Given the description of an element on the screen output the (x, y) to click on. 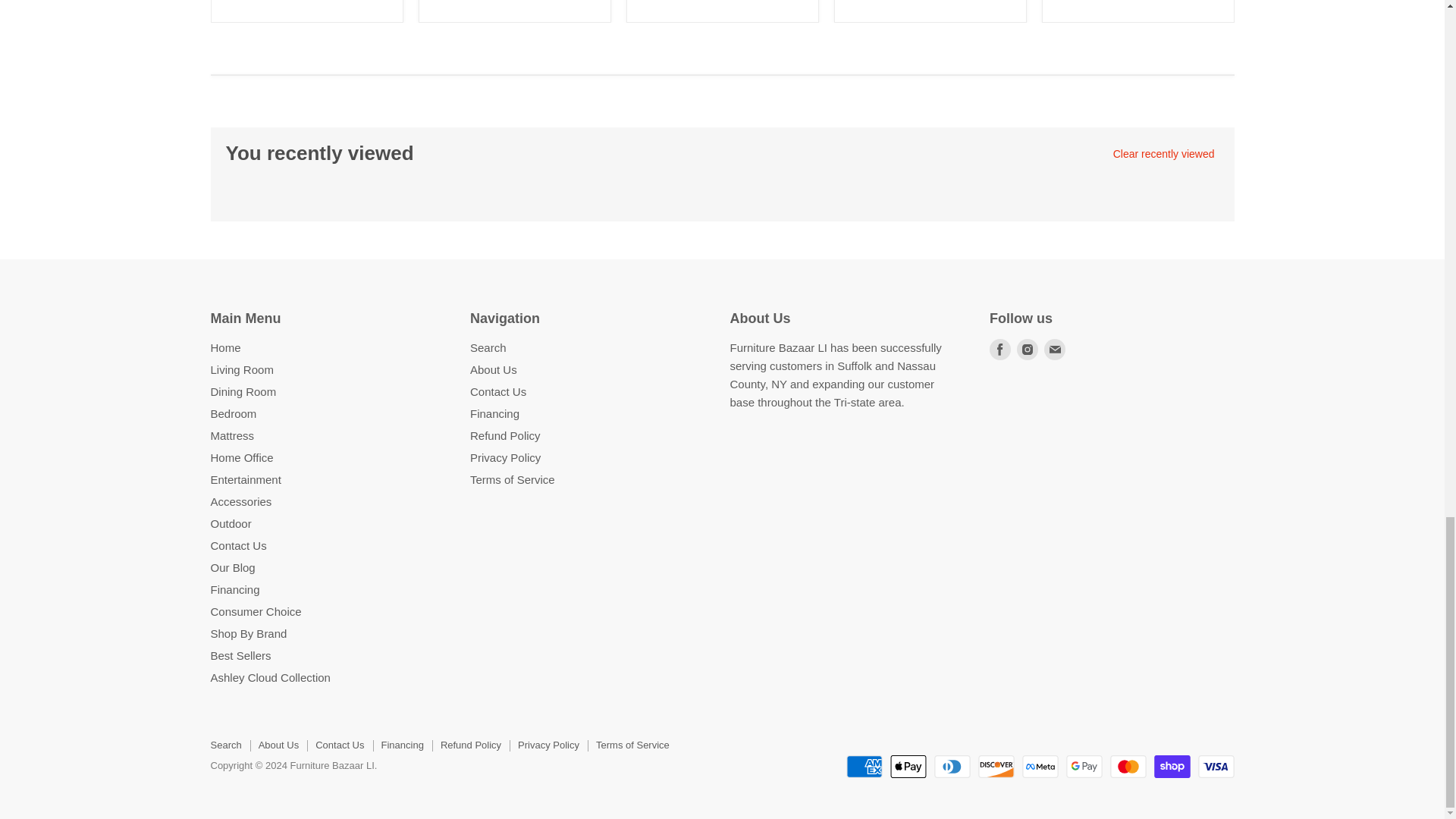
Instagram (1027, 349)
E-mail (1054, 349)
Facebook (1000, 349)
